Given the description of an element on the screen output the (x, y) to click on. 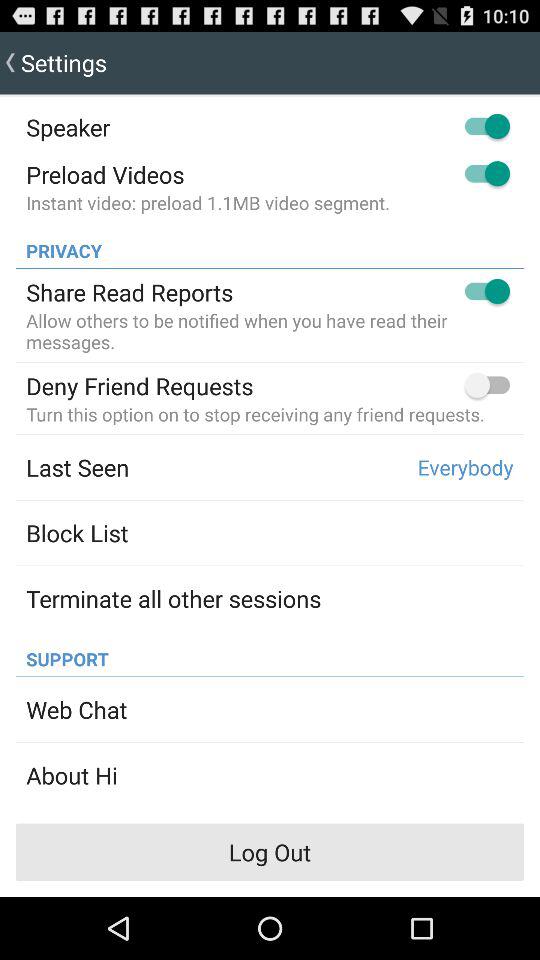
press privacy icon (58, 245)
